Given the description of an element on the screen output the (x, y) to click on. 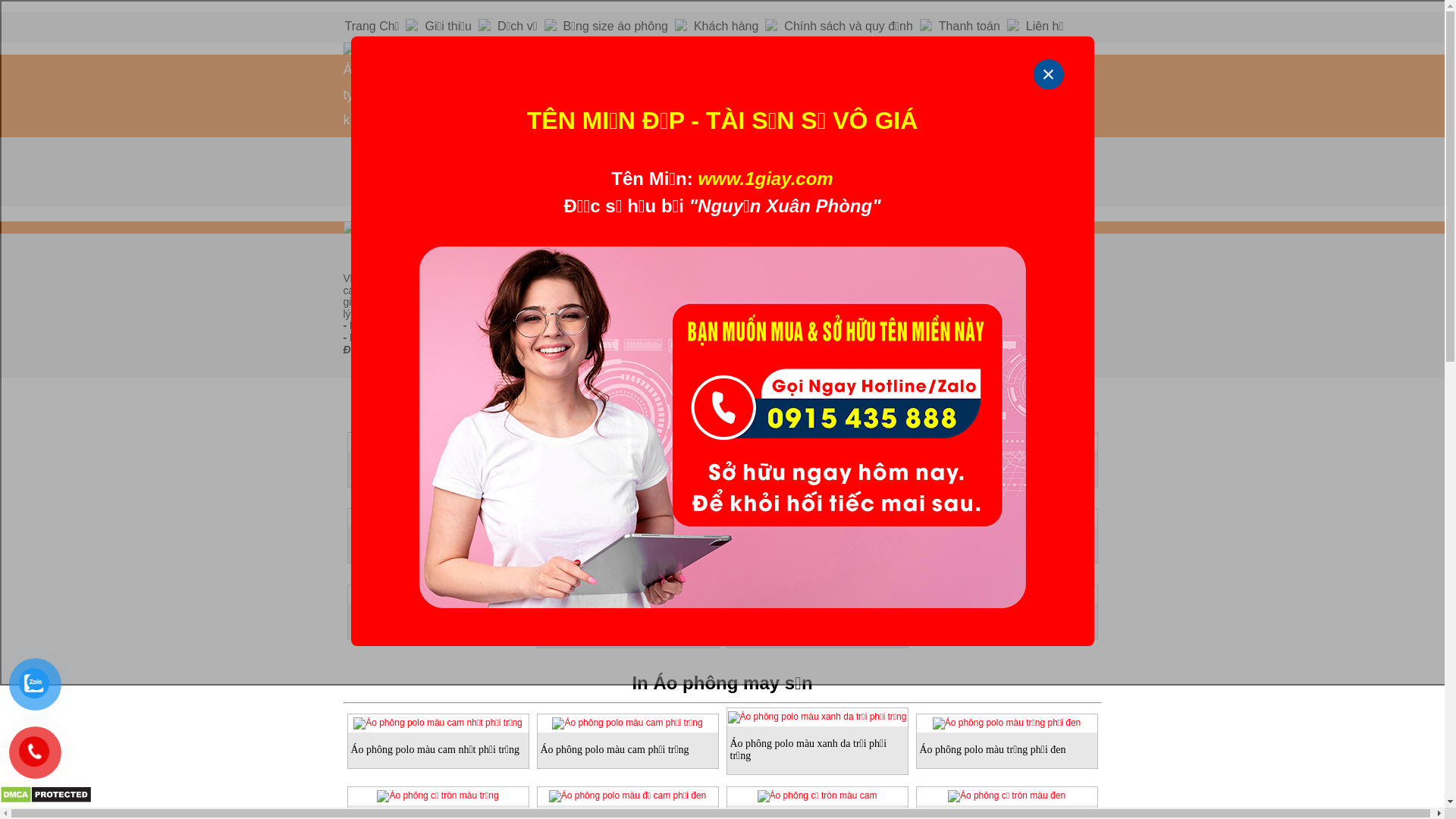
DMCA.com Protection Status Element type: hover (45, 800)
